Given the description of an element on the screen output the (x, y) to click on. 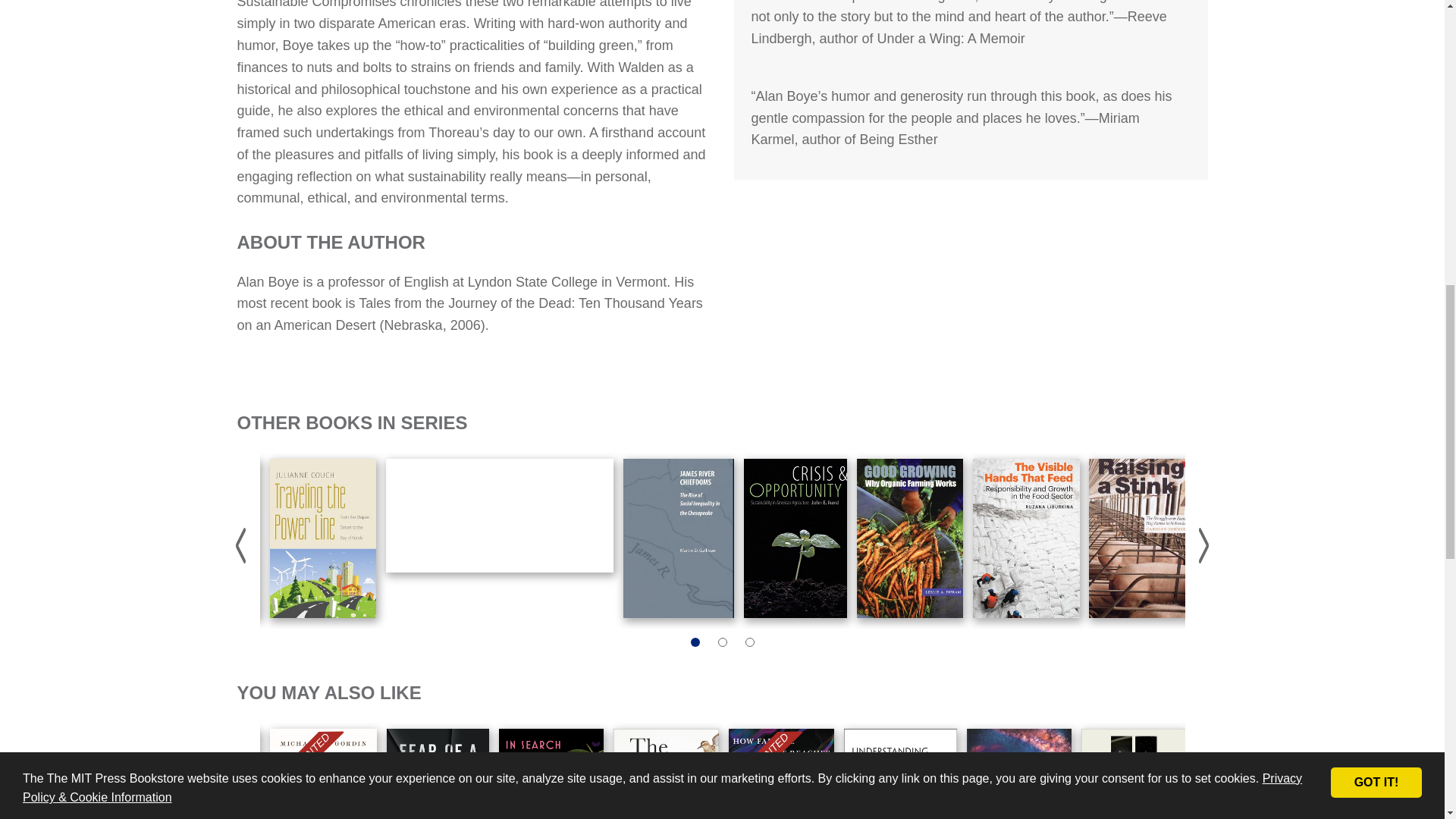
GOT IT! (1376, 50)
